Given the description of an element on the screen output the (x, y) to click on. 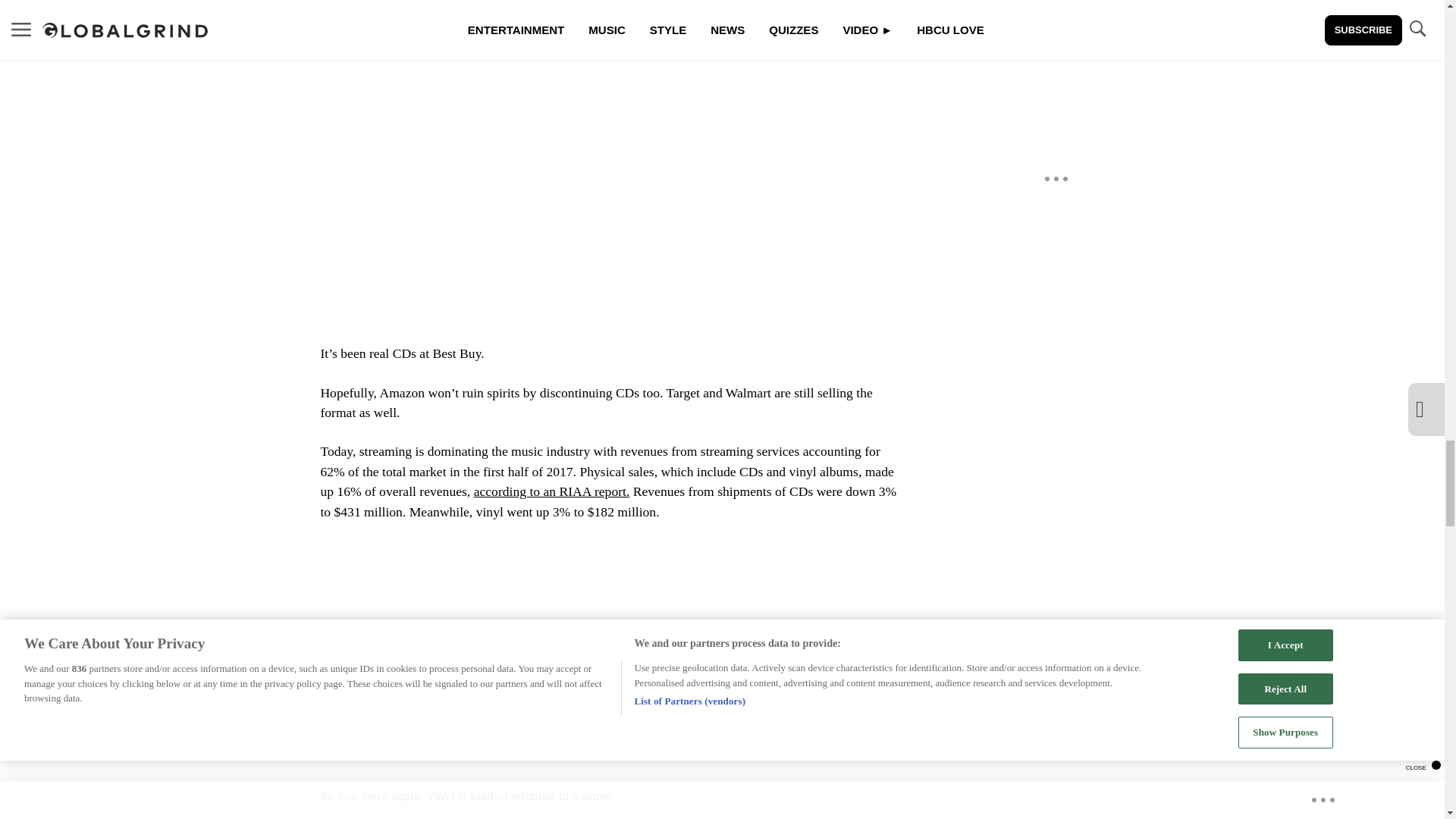
Embedded content (608, 152)
according to an RIAA report. (552, 491)
Embedded content (608, 636)
